Given the description of an element on the screen output the (x, y) to click on. 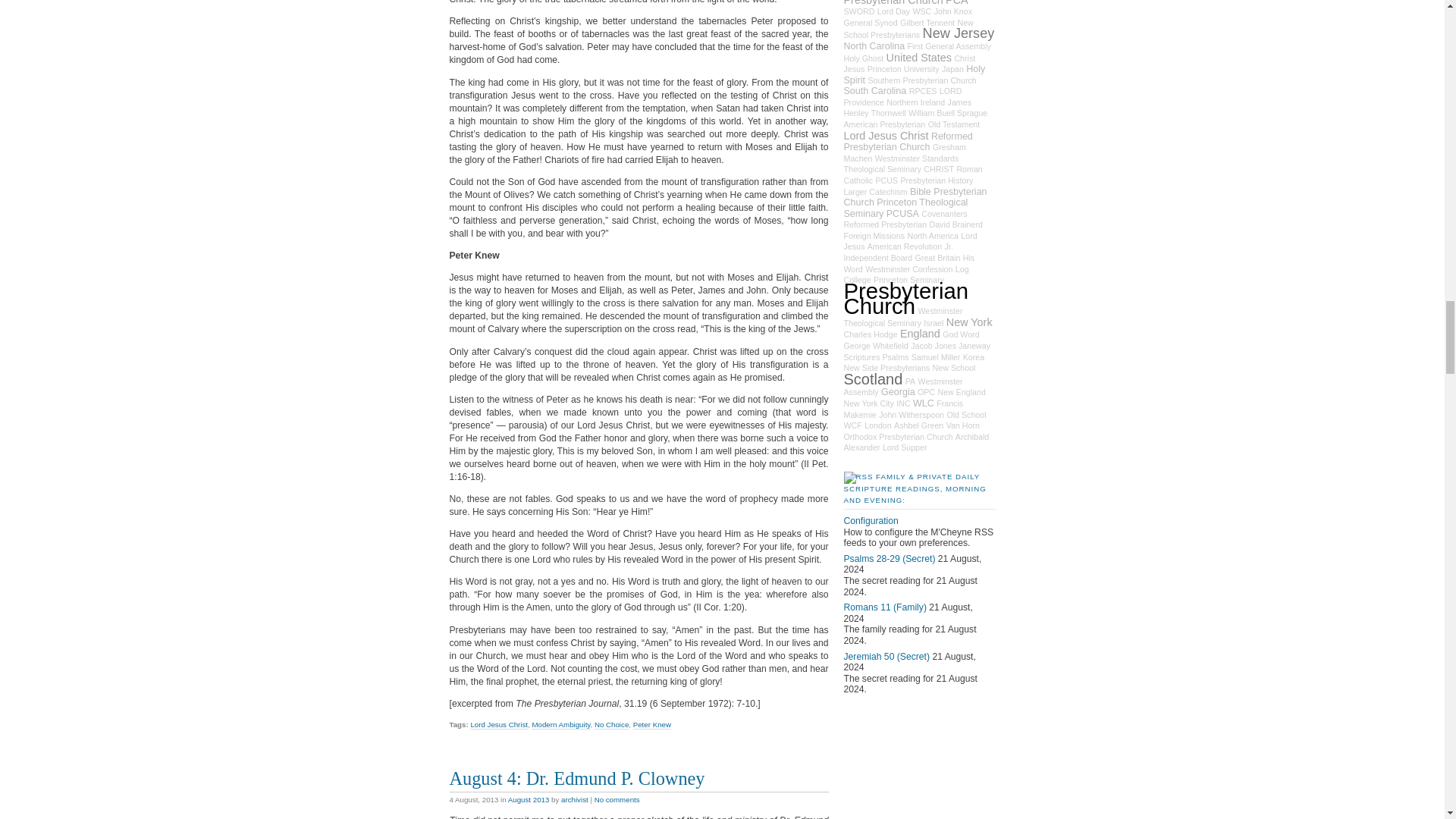
Modern Ambiguity (560, 724)
No Choice (611, 724)
August 2013 (529, 799)
Peter Knew (652, 724)
archivist (574, 799)
Lord Jesus Christ (498, 724)
No comments (617, 799)
August 4: Dr. Edmund P. Clowney (576, 778)
Permanent link to August 4: Dr. Edmund P. Clowney (576, 778)
Articles by archivist (574, 799)
